Given the description of an element on the screen output the (x, y) to click on. 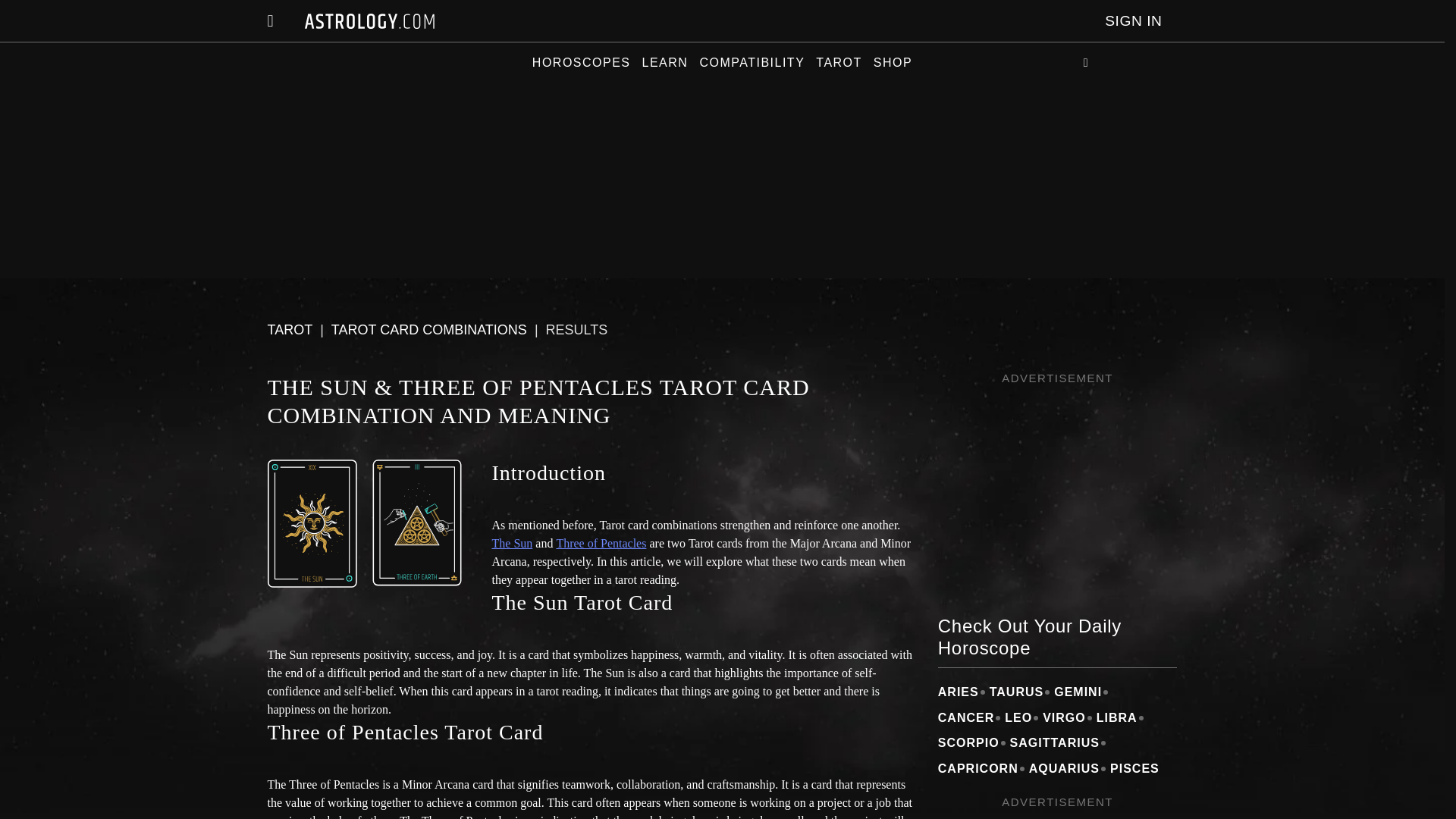
SIGN IN (1133, 21)
